Given the description of an element on the screen output the (x, y) to click on. 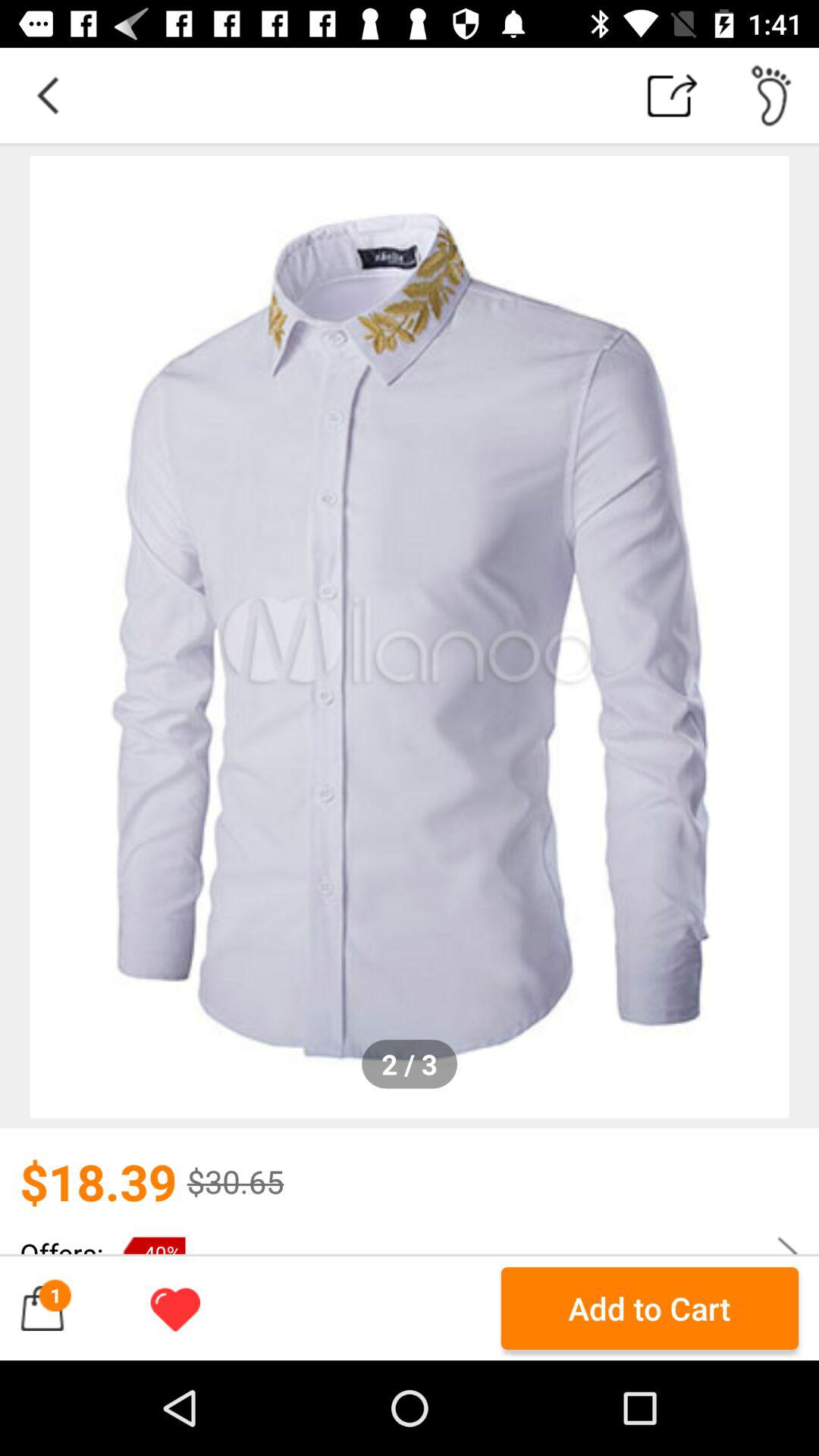
launch add to cart button (649, 1308)
